Given the description of an element on the screen output the (x, y) to click on. 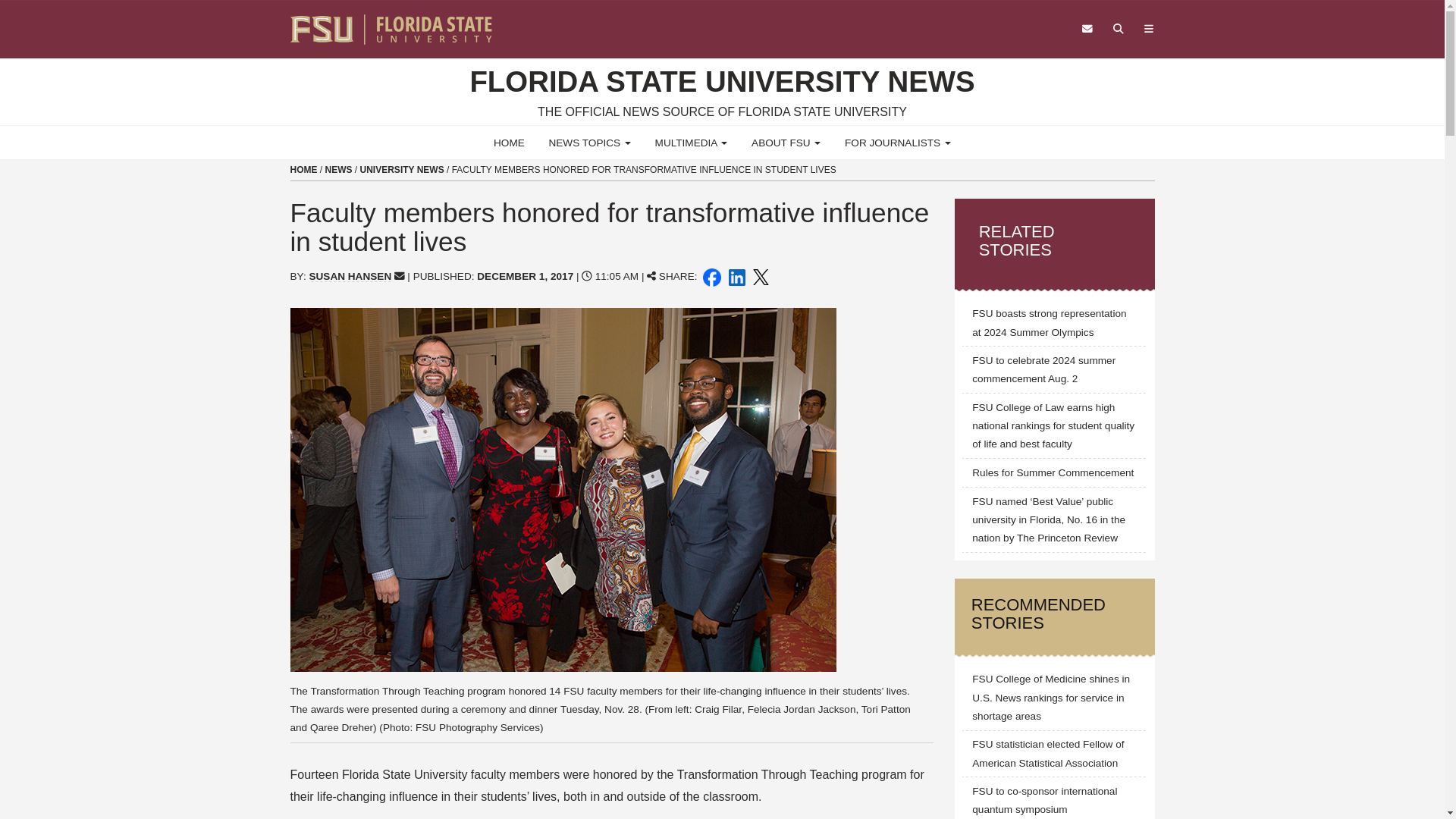
FSU Webmail (1087, 28)
Navigation (1148, 28)
EMAIL (399, 275)
